Given the description of an element on the screen output the (x, y) to click on. 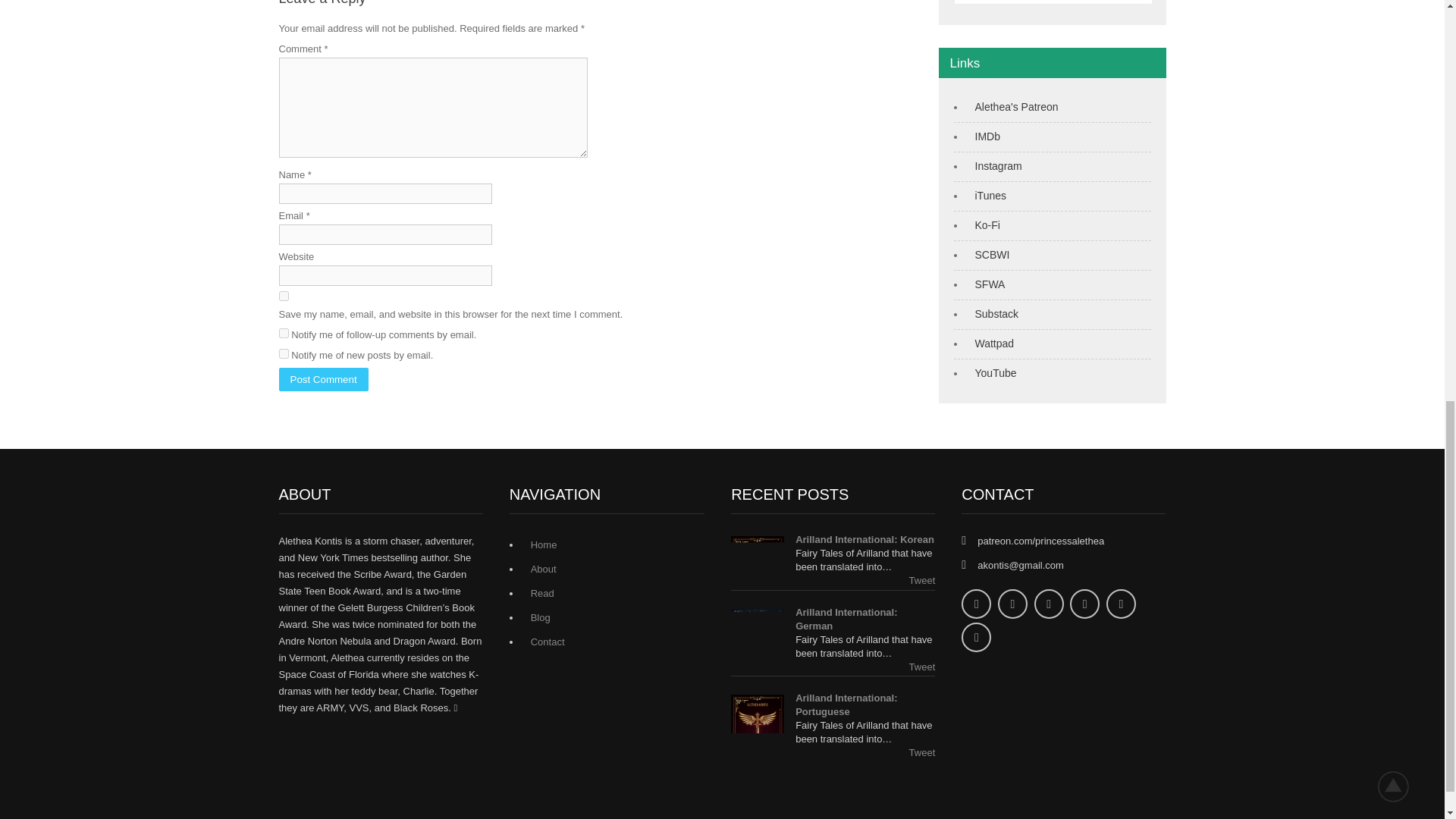
Science Fiction Writers of America (987, 284)
yes (283, 296)
subscribe (283, 353)
subscribe (283, 333)
Post Comment (323, 379)
